Given the description of an element on the screen output the (x, y) to click on. 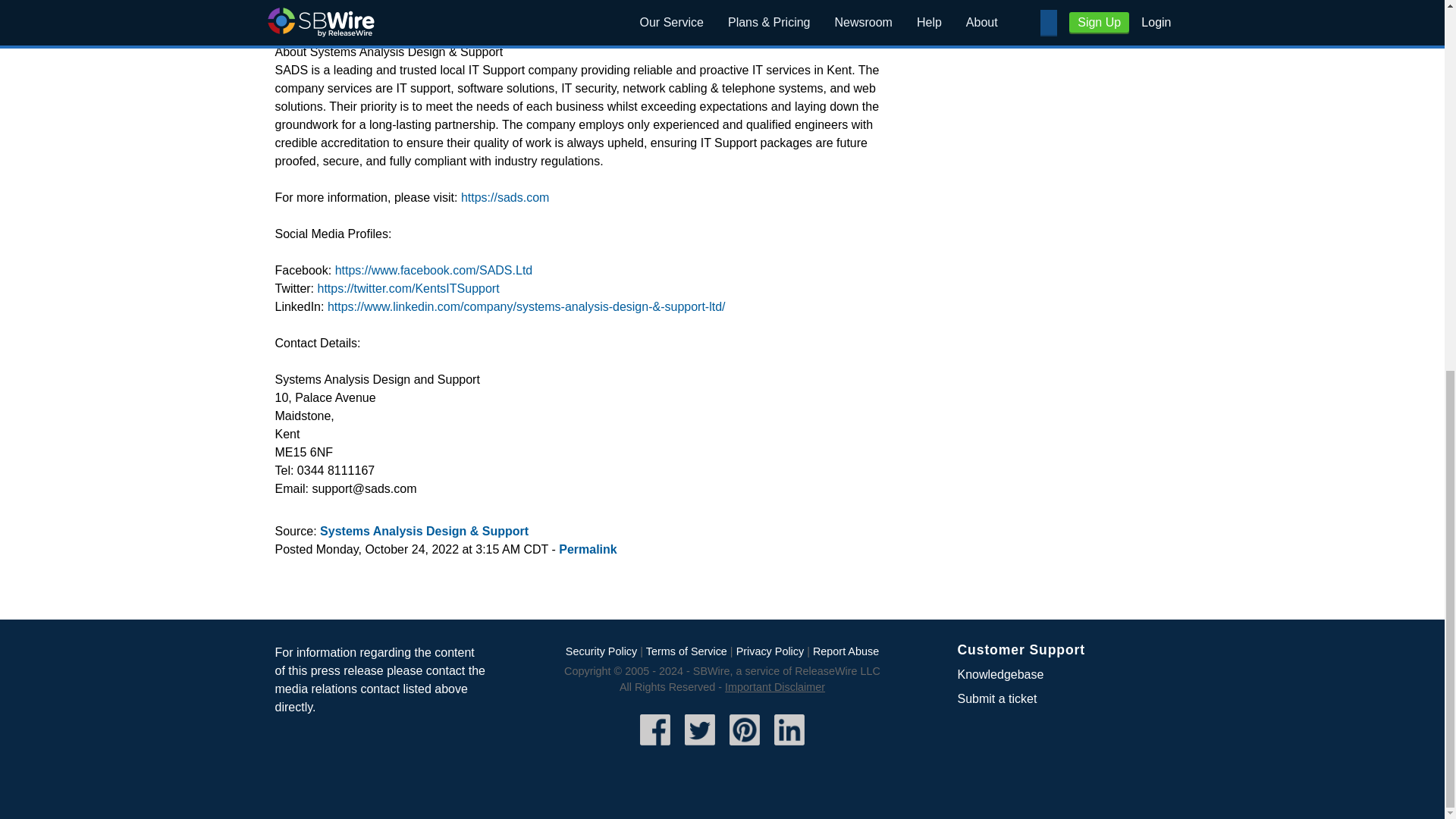
Find SBWire on Facebook (655, 746)
Report Abuse (845, 651)
Privacy Policy (770, 651)
Permalink (587, 549)
Follow SBWire on LinkedIn (788, 746)
Visit SBWire on Pinterest (744, 746)
Follow SBWire on Twitter (699, 746)
Security Policy (601, 651)
Important Disclaimer (775, 686)
Terms of Service (686, 651)
